Given the description of an element on the screen output the (x, y) to click on. 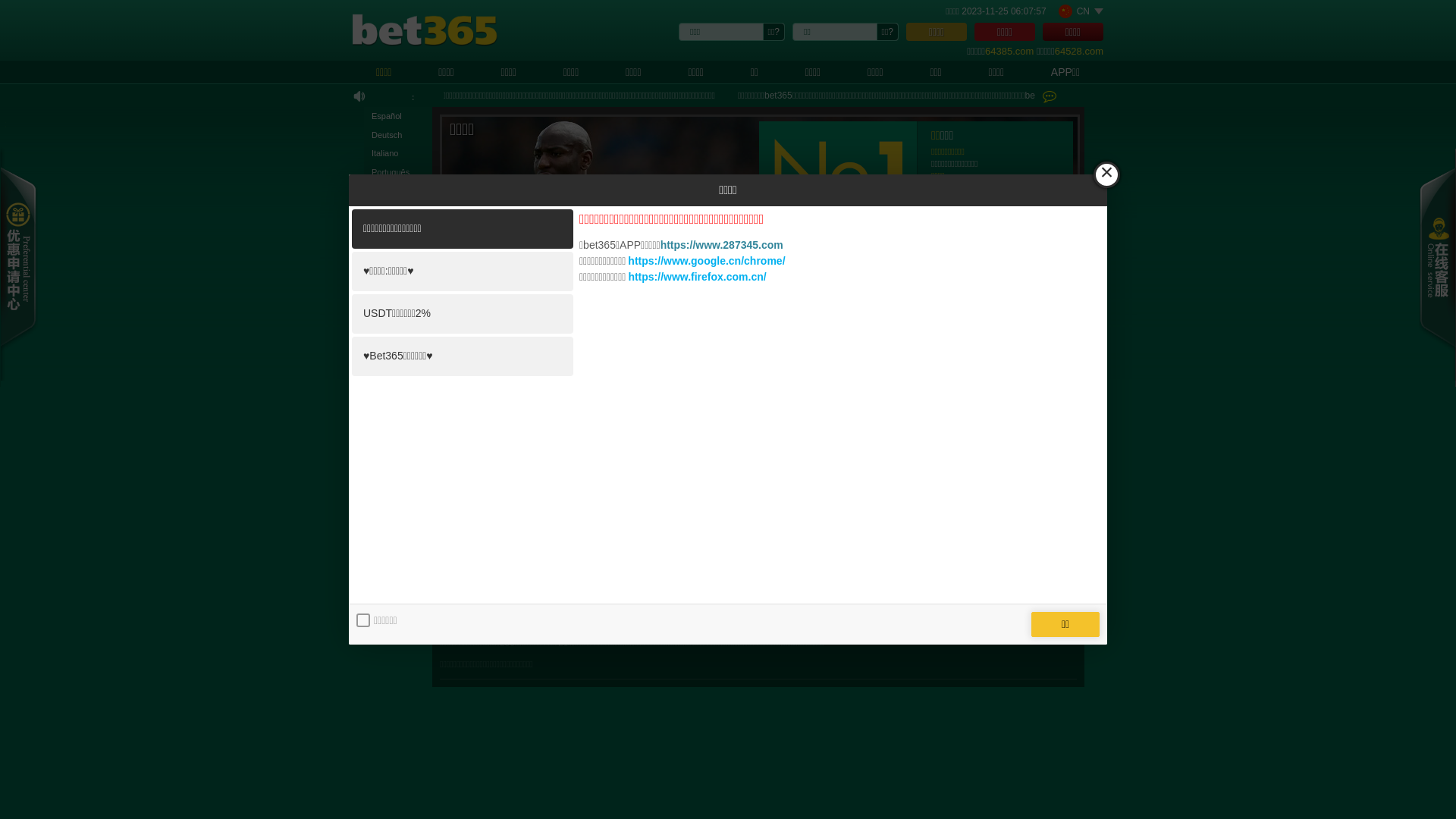
Italiano Element type: text (398, 153)
Polski Element type: text (398, 301)
64385.com Element type: text (1009, 50)
https://www.google.cn/chrome/ Element type: text (706, 260)
https://www.firefox.com.cn/ Element type: text (696, 276)
Magyar Element type: text (398, 357)
https://www.287345.com Element type: text (721, 244)
Norsk Element type: text (398, 227)
64528.com Element type: text (1078, 50)
Dansk Element type: text (398, 190)
Deutsch Element type: text (398, 134)
Nederlands Element type: text (398, 394)
Svenska Element type: text (398, 209)
